Given the description of an element on the screen output the (x, y) to click on. 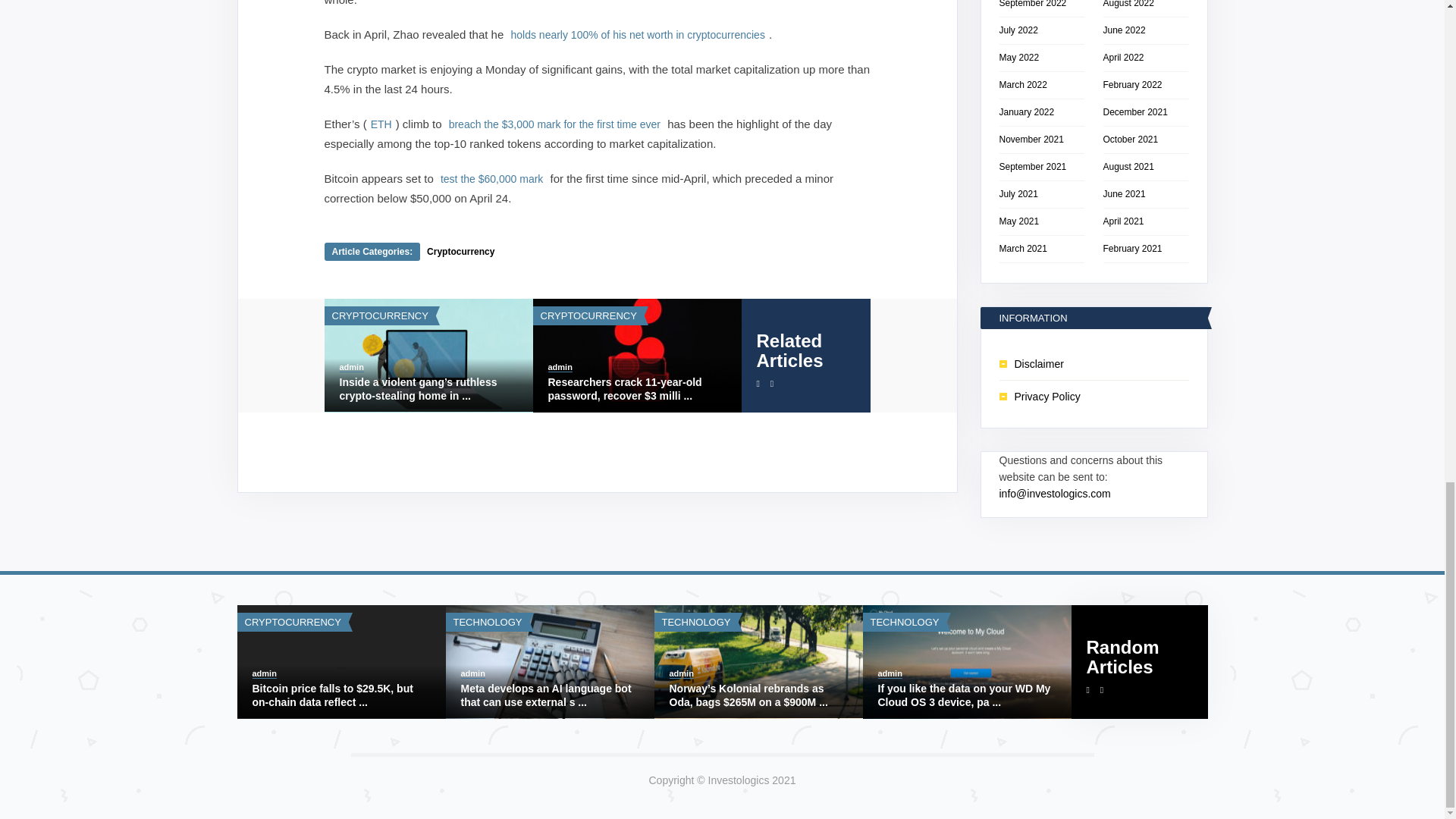
ETH (381, 123)
Cryptocurrency (460, 251)
